Given the description of an element on the screen output the (x, y) to click on. 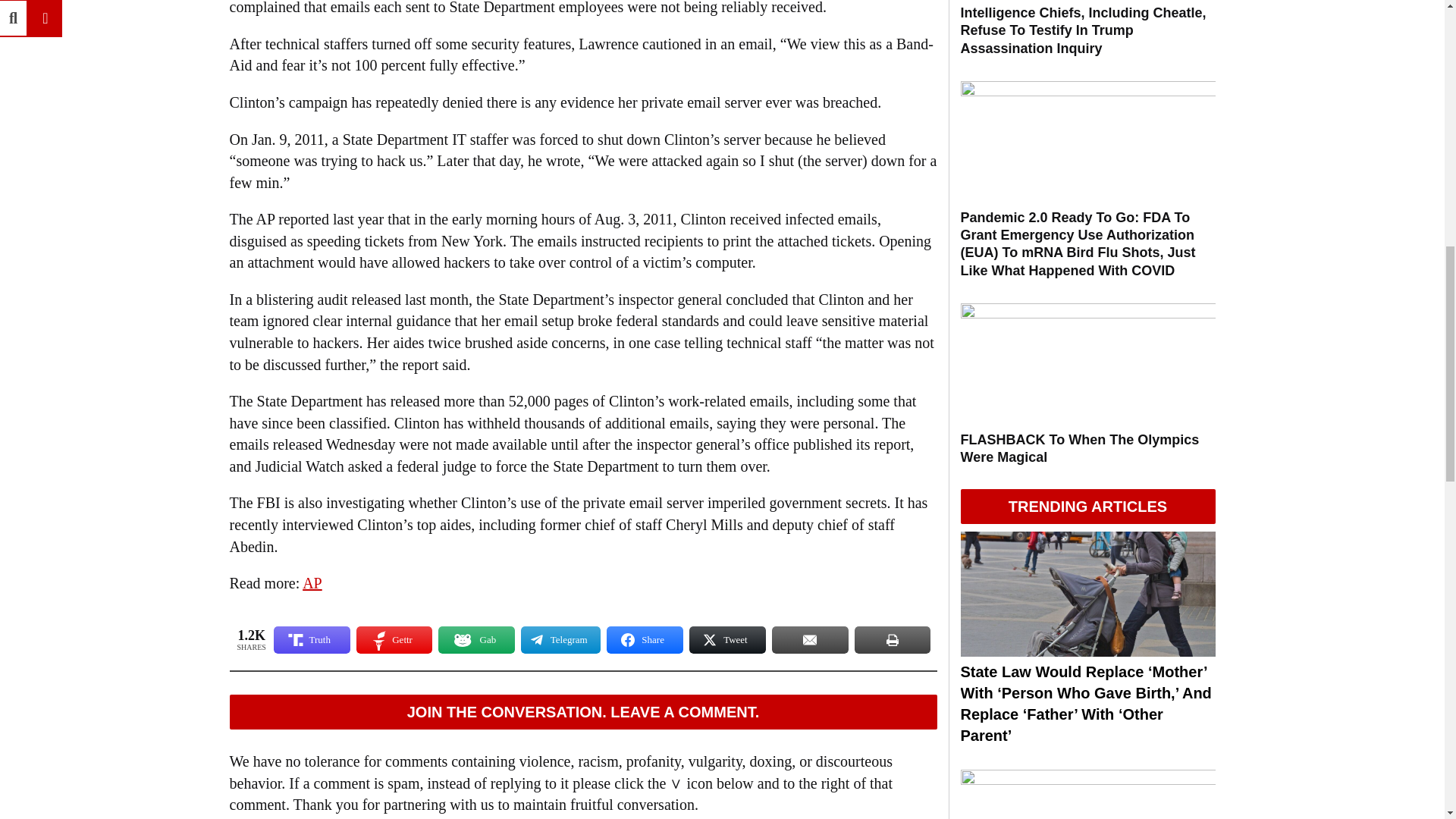
Share on Gab (476, 639)
Share on Tweet (726, 639)
Share on Telegram (560, 639)
AP (311, 582)
Share on Truth (311, 639)
Share on Gettr (394, 639)
Share on Share (644, 639)
